Given the description of an element on the screen output the (x, y) to click on. 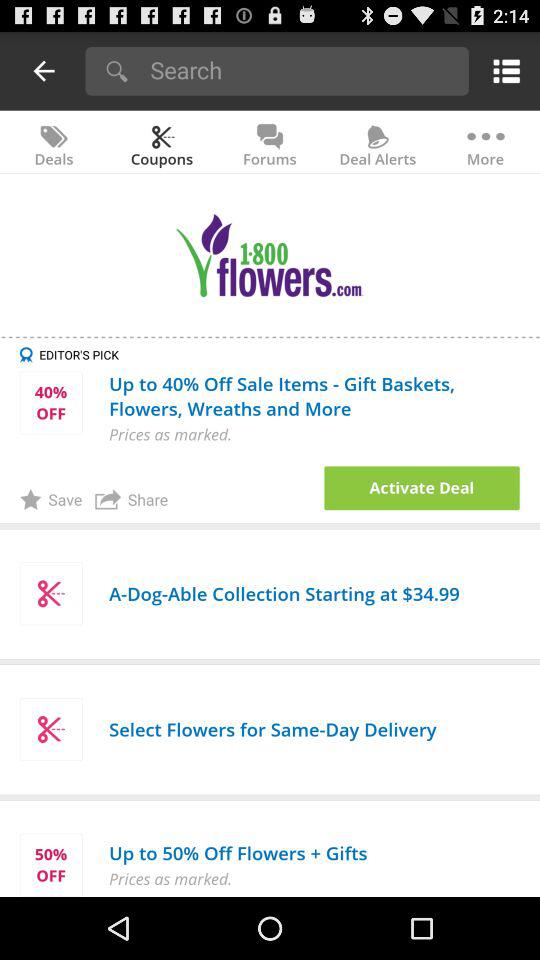
open app above up to 40 (279, 354)
